Given the description of an element on the screen output the (x, y) to click on. 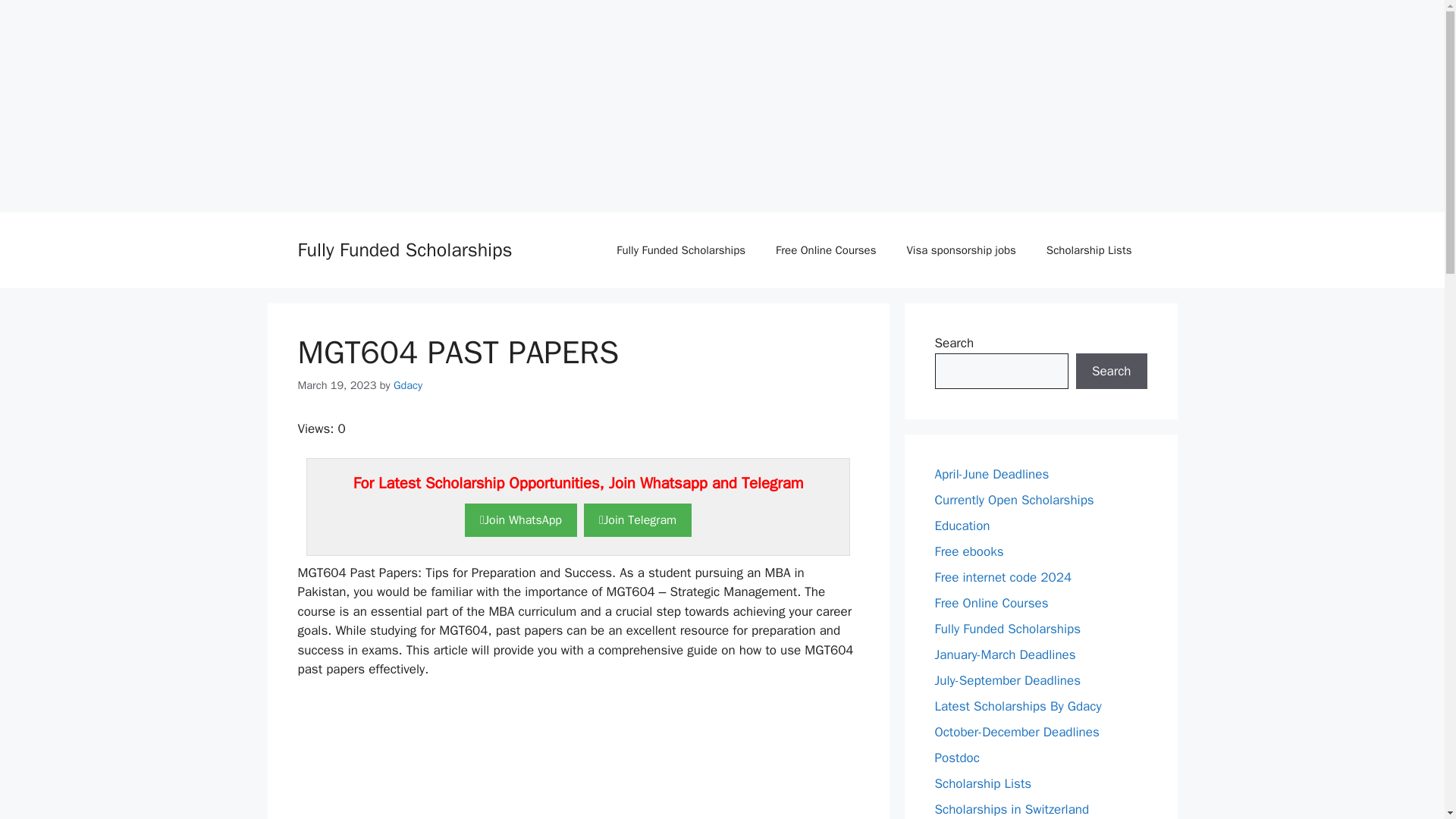
Fully Funded Scholarships (404, 249)
Join Telegram (637, 520)
Gdacy (407, 385)
View all posts by Gdacy (407, 385)
Visa sponsorship jobs (960, 249)
Advertisement (578, 758)
Free Online Courses (991, 602)
October-December Deadlines (1016, 731)
Fully Funded Scholarships (1007, 628)
Scholarship Lists (982, 783)
